Given the description of an element on the screen output the (x, y) to click on. 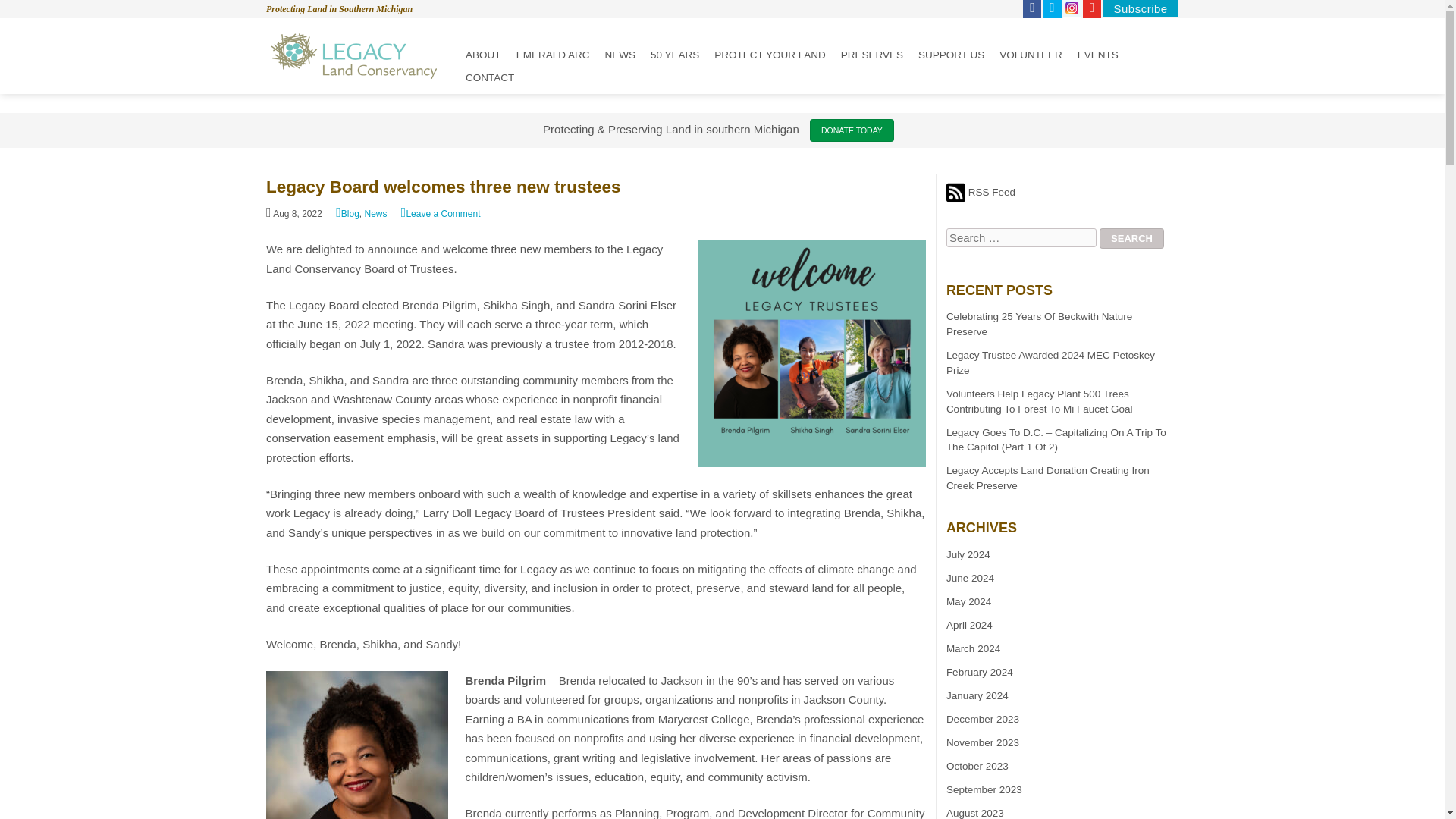
NEWS (619, 55)
PRESERVES (871, 55)
EMERALD ARC (552, 55)
Search (1131, 238)
PROTECT YOUR LAND (769, 55)
50 YEARS (674, 55)
ABOUT (482, 55)
